Given the description of an element on the screen output the (x, y) to click on. 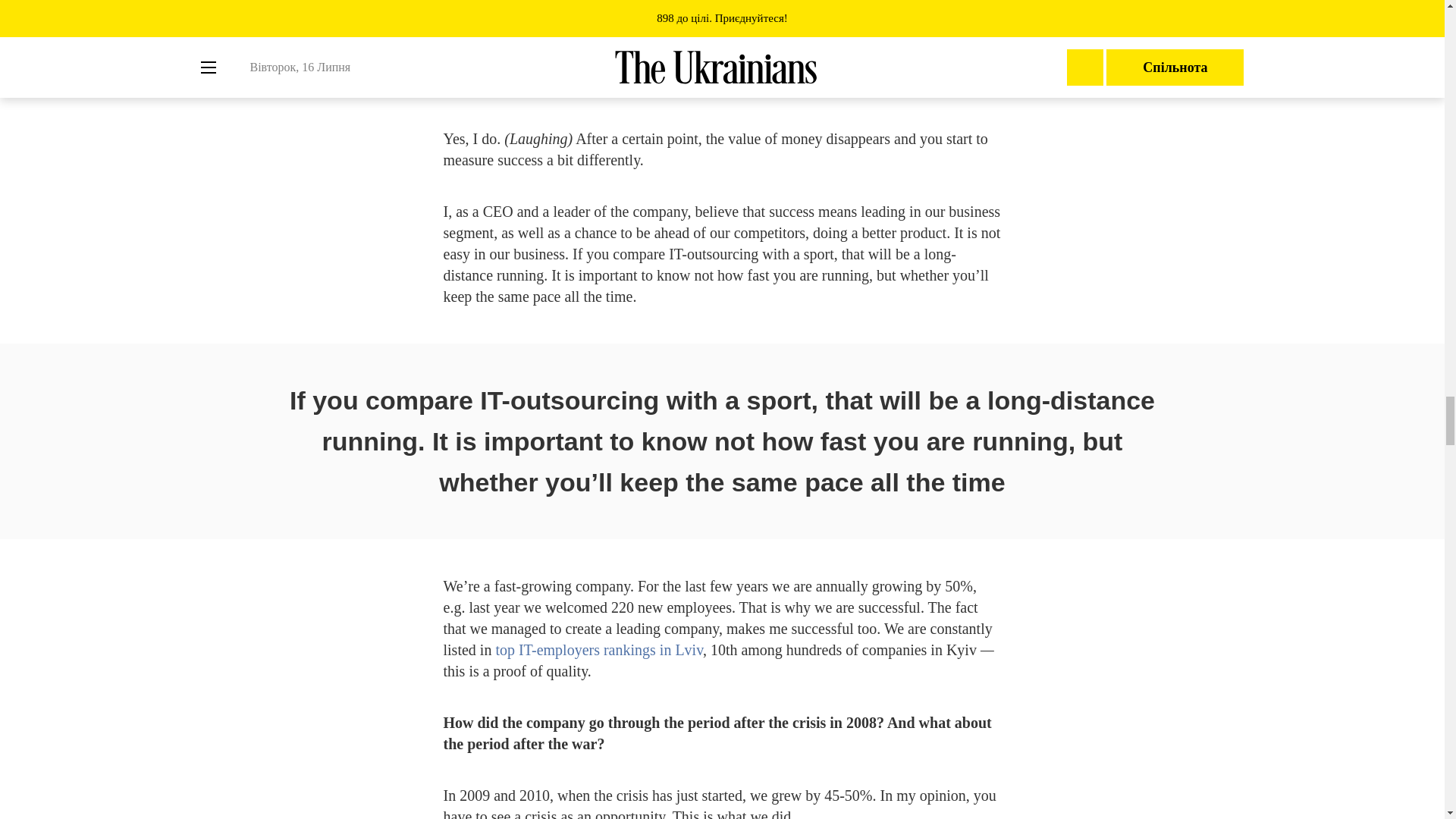
top IT-employers rankings in Lviv (598, 649)
